Given the description of an element on the screen output the (x, y) to click on. 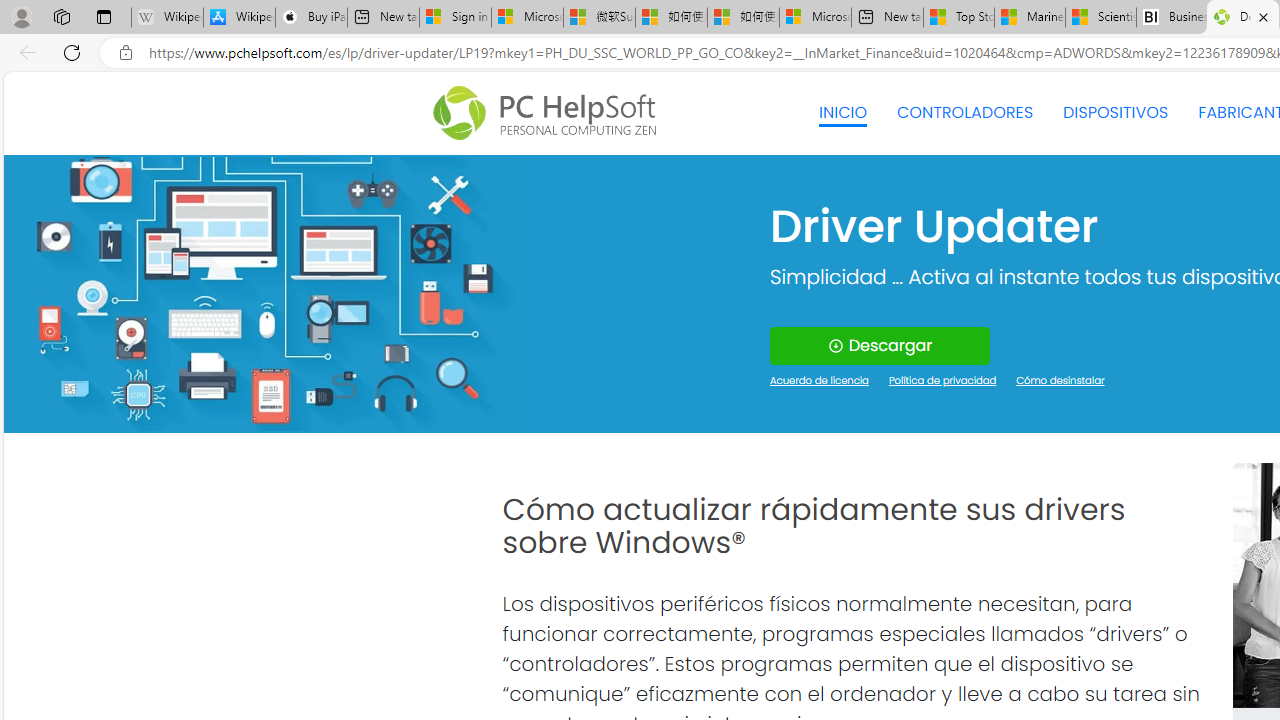
Download Icon (834, 345)
Logo Personal Computing (550, 113)
DISPOSITIVOS (1115, 112)
INICIO (842, 112)
Sign in to your Microsoft account (455, 17)
Microsoft account | Account Checkup (815, 17)
Buy iPad - Apple (311, 17)
DISPOSITIVOS (1115, 112)
Download Icon Descargar (879, 345)
